Given the description of an element on the screen output the (x, y) to click on. 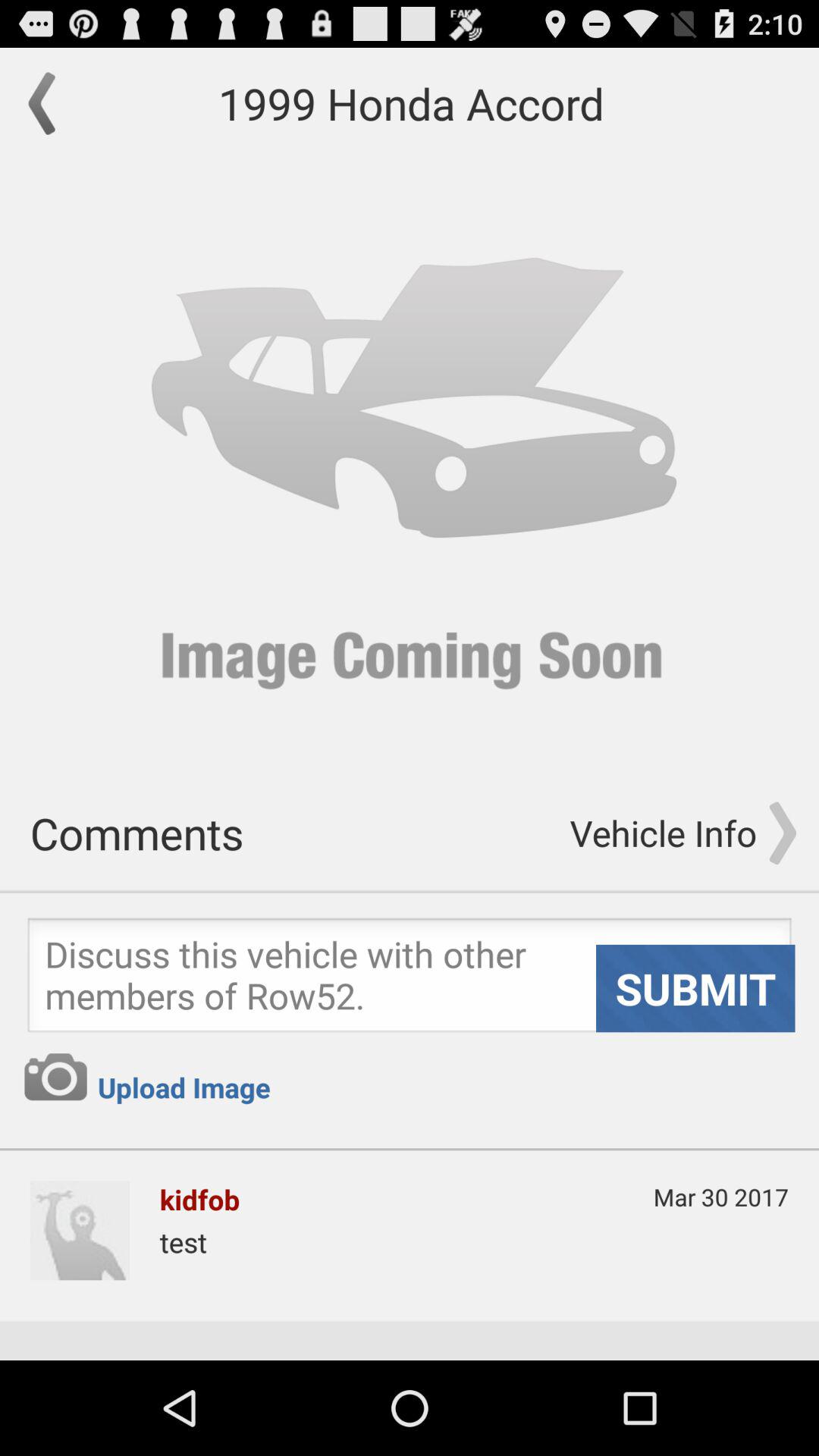
go to submit option (409, 979)
